Given the description of an element on the screen output the (x, y) to click on. 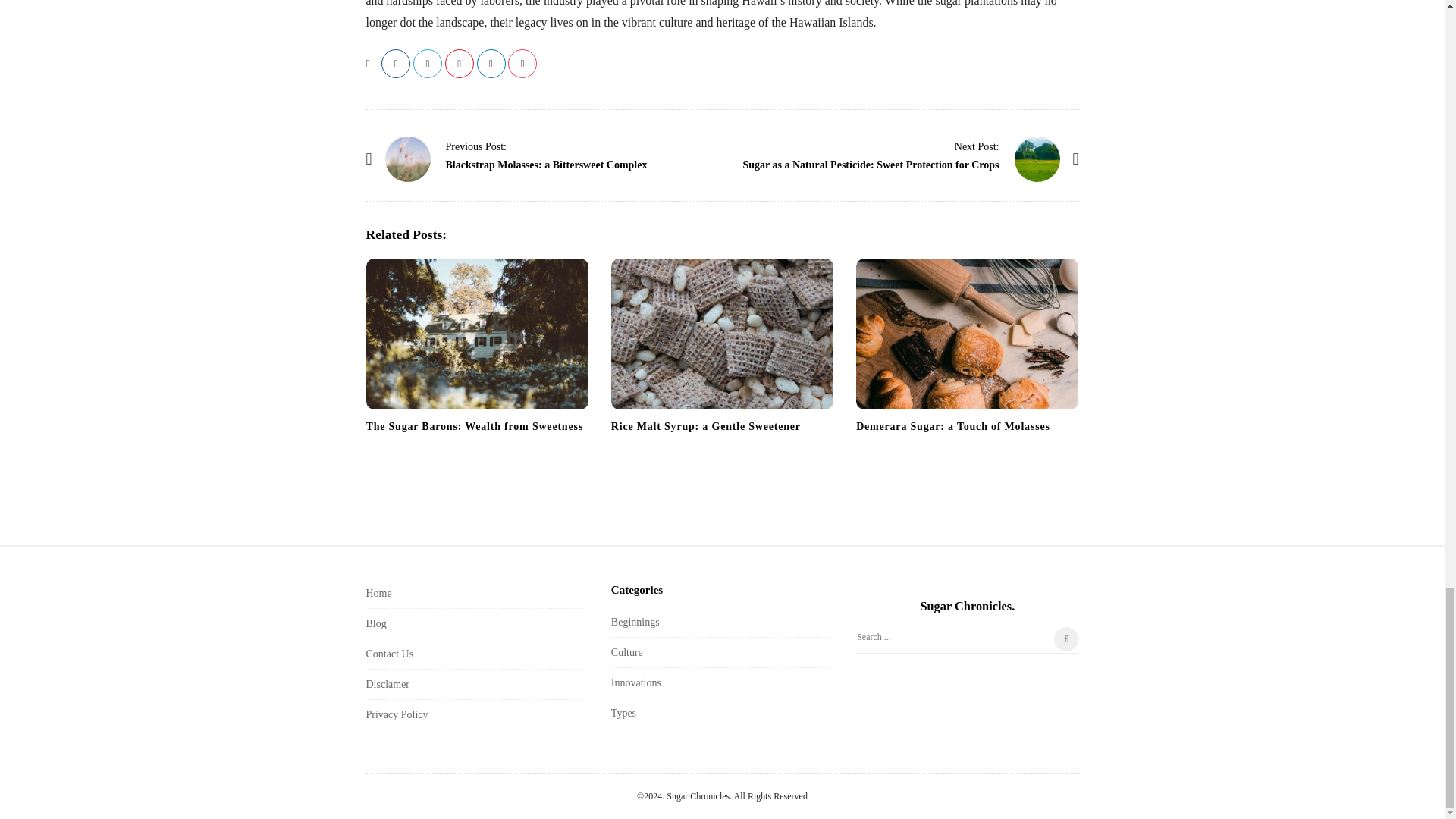
Blackstrap Molasses: a Bittersweet Complex (475, 146)
Rice Malt Syrup: a Gentle Sweetener (705, 426)
Blackstrap Molasses: a Bittersweet Complex (407, 158)
Blackstrap Molasses: a Bittersweet Complex (546, 164)
Rice Malt Syrup: a Gentle Sweetener (705, 426)
Rice Malt Syrup: a Gentle Sweetener (721, 334)
Disclamer (387, 684)
Next Post: (976, 146)
Demerara Sugar: a Touch of Molasses (952, 426)
Home (378, 593)
